Given the description of an element on the screen output the (x, y) to click on. 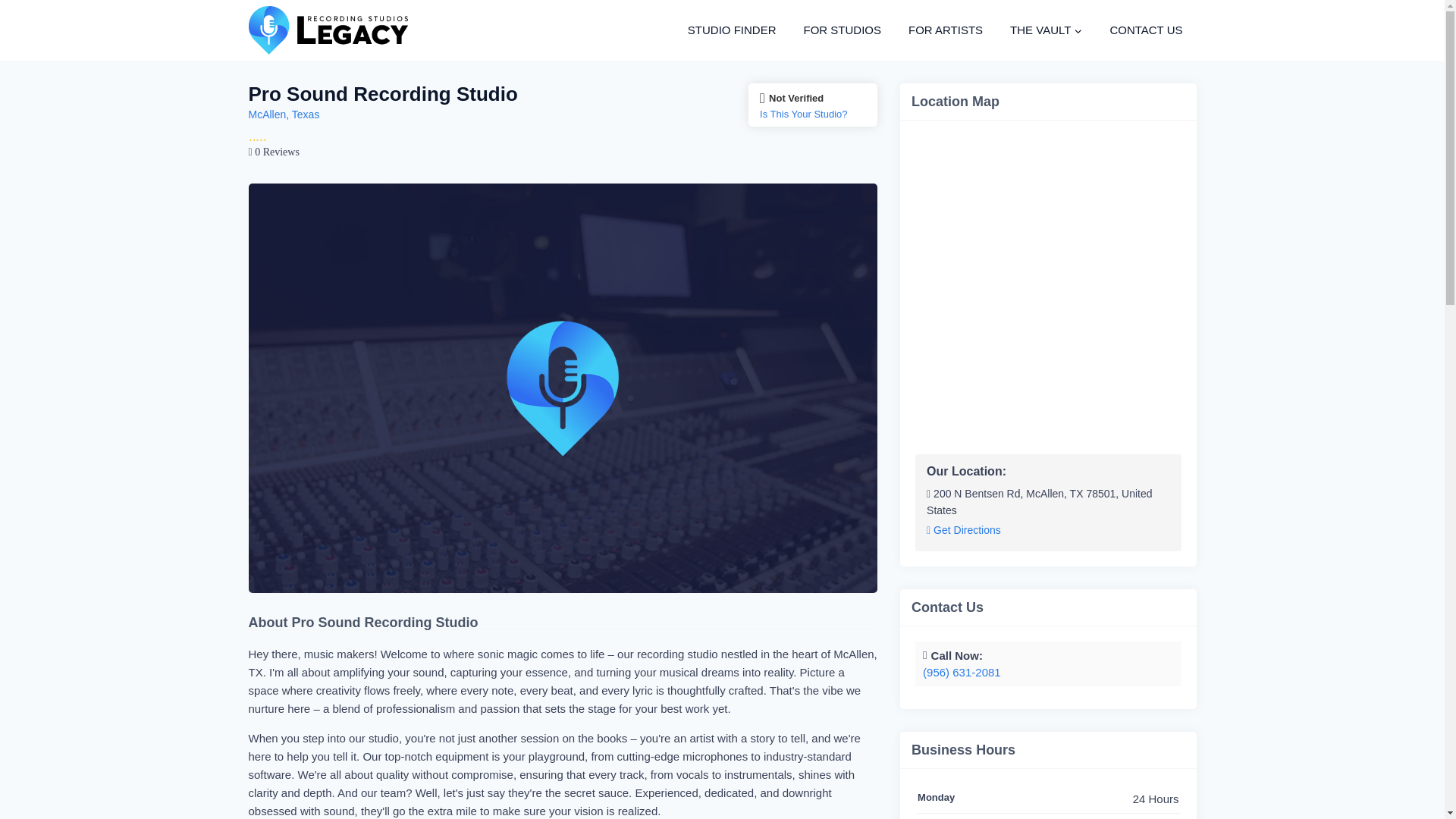
FOR STUDIOS (842, 29)
Is This Your Studio? (813, 113)
McAllen (267, 114)
FOR ARTISTS (945, 29)
Texas (306, 114)
CONTACT US (1145, 29)
Get Directions (963, 530)
THE VAULT (1045, 29)
STUDIO FINDER (732, 29)
